Given the description of an element on the screen output the (x, y) to click on. 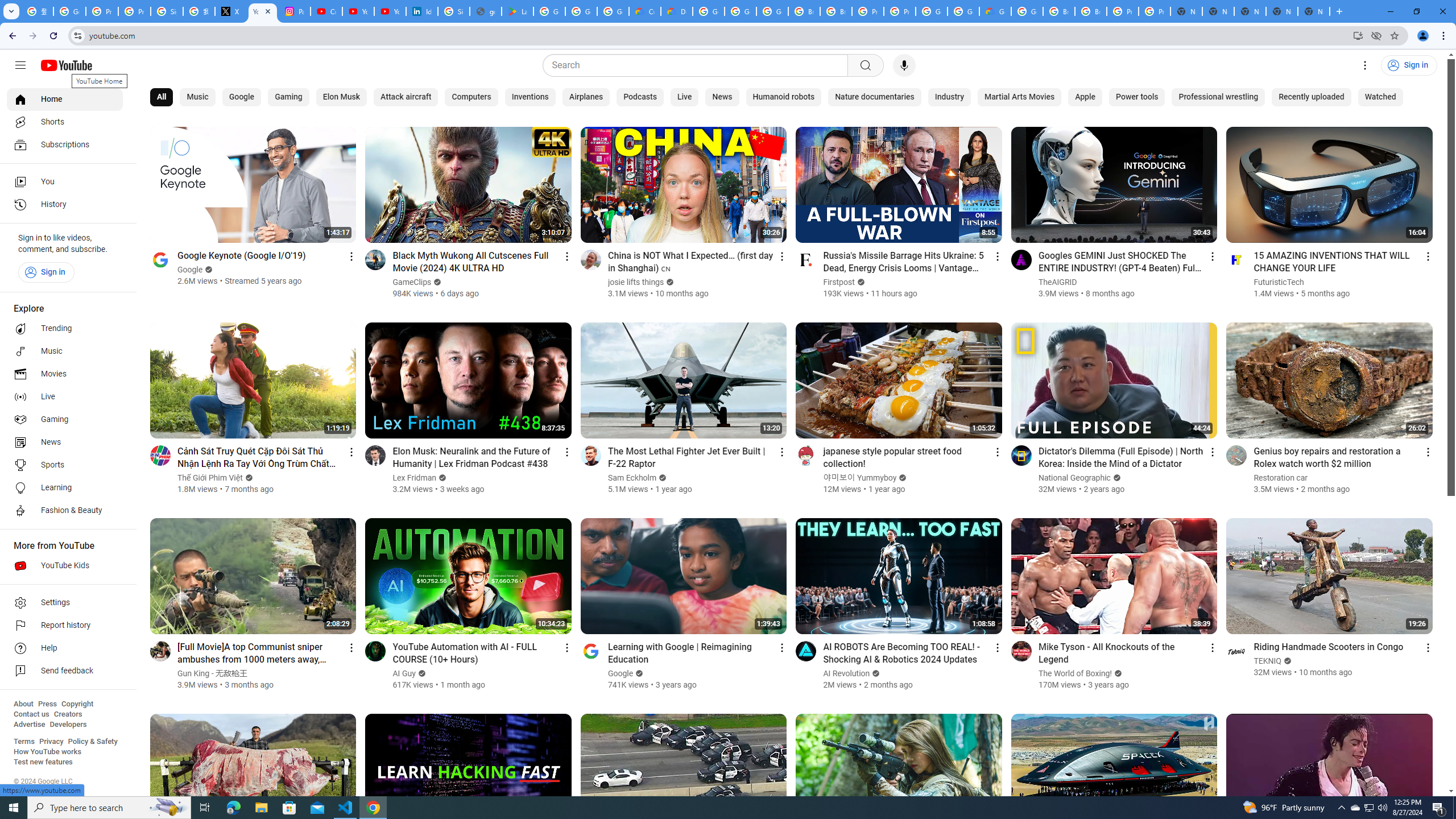
Humanoid robots (783, 97)
Sam Eckholm (632, 477)
Elon Musk (340, 97)
Attack aircraft (406, 97)
Fashion & Beauty (64, 510)
Music (64, 350)
Send feedback (64, 671)
Inventions (529, 97)
